Given the description of an element on the screen output the (x, y) to click on. 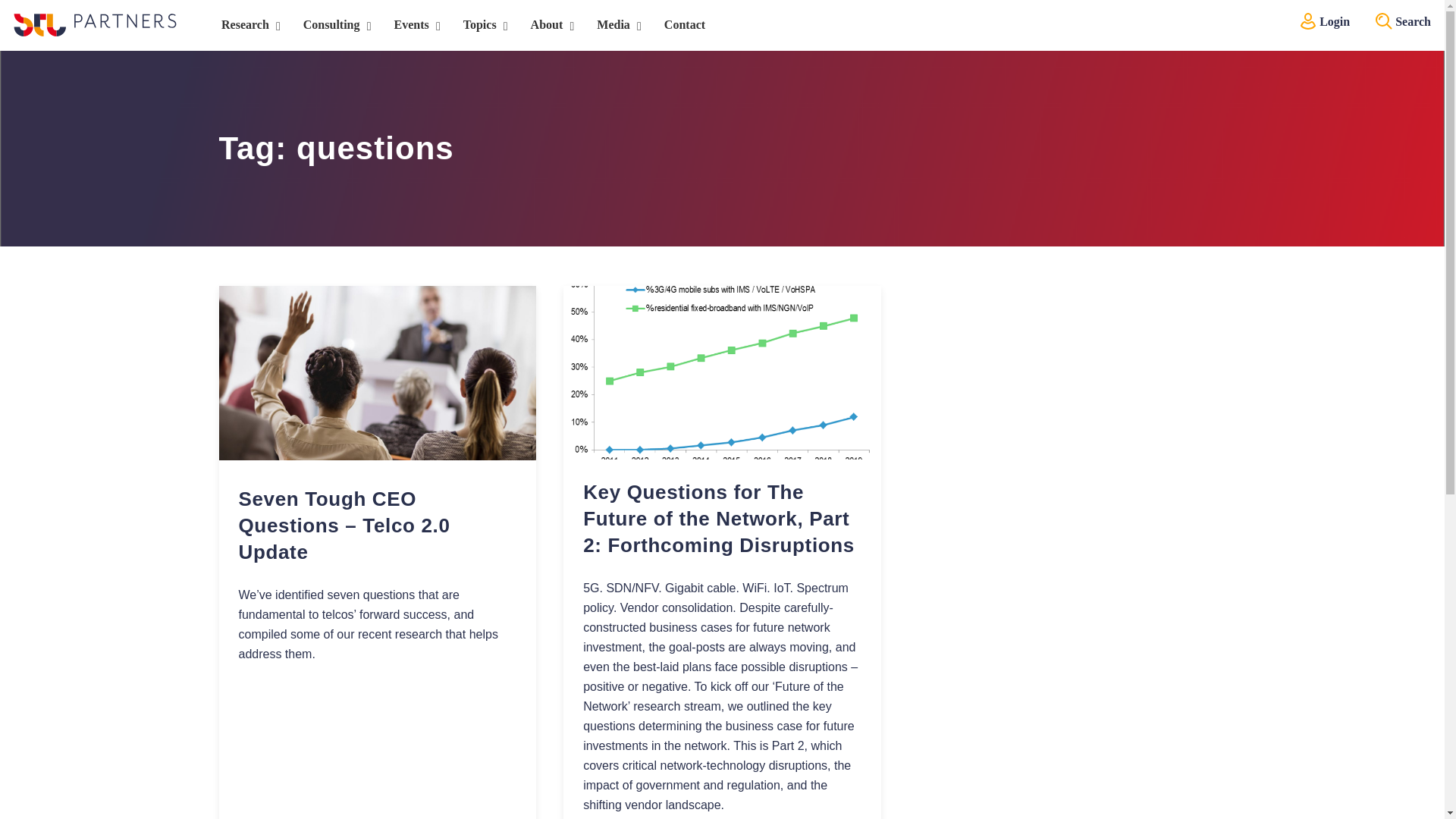
Created with Sketch. (1308, 21)
Consulting (333, 25)
Search (1383, 21)
STL Partners (94, 24)
Media (614, 25)
Events (413, 25)
About (548, 25)
Topics (481, 25)
Research (247, 25)
STL Partners (94, 24)
